Given the description of an element on the screen output the (x, y) to click on. 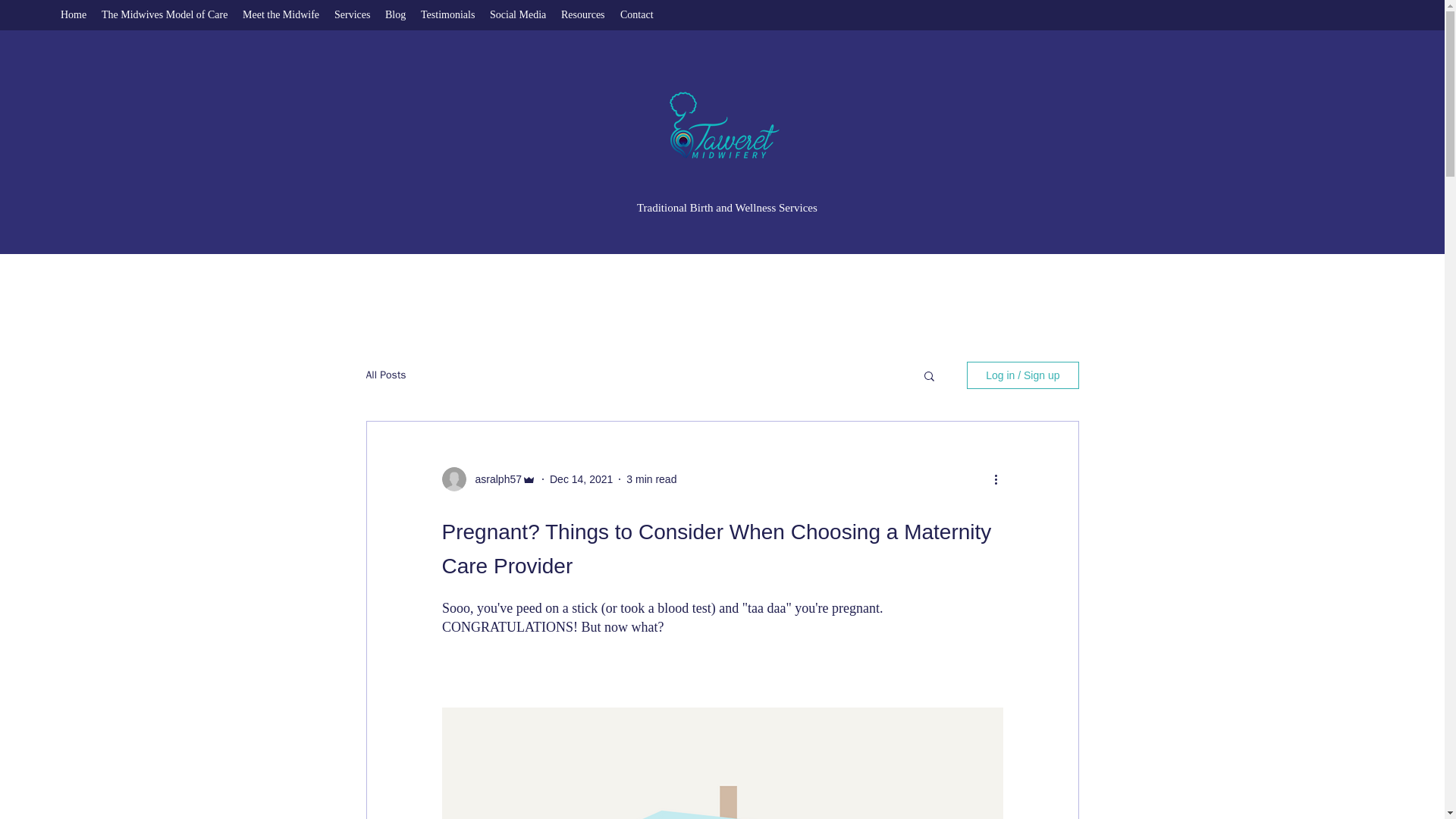
Testimonials (447, 15)
asralph57 (493, 479)
Services (351, 15)
Contact (636, 15)
All Posts (385, 375)
Home (73, 15)
Resources (582, 15)
Social Media (517, 15)
The Midwives Model of Care (164, 15)
Meet the Midwife (280, 15)
Dec 14, 2021 (581, 479)
3 min read (651, 479)
Blog (395, 15)
